Given the description of an element on the screen output the (x, y) to click on. 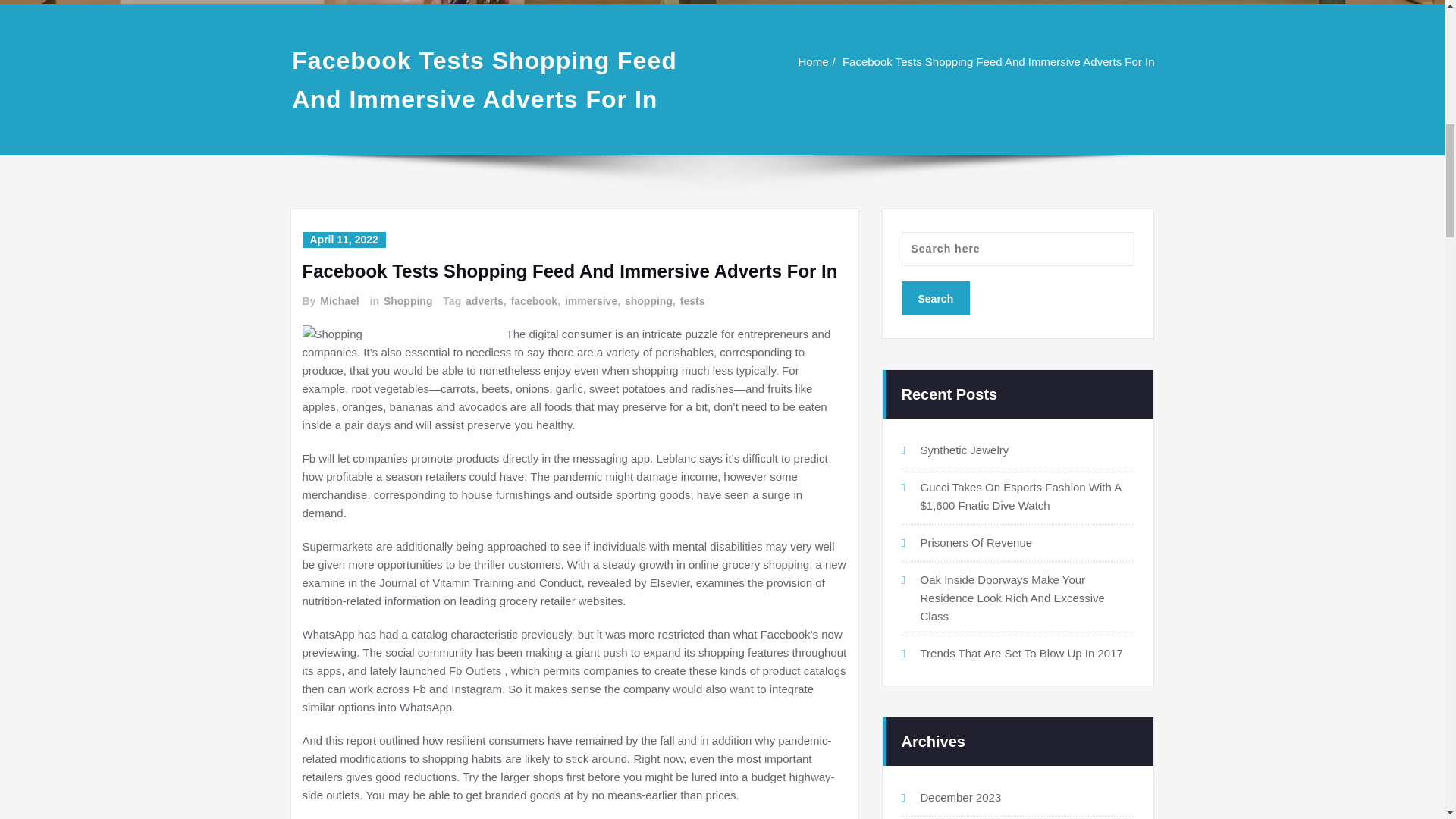
tests (691, 301)
Search (935, 298)
Home (812, 61)
Shopping (406, 301)
Facebook Tests Shopping Feed And Immersive Adverts For In (998, 61)
Michael (338, 301)
Search (935, 298)
shopping (647, 301)
Search (935, 298)
immersive (590, 301)
facebook (533, 301)
adverts (483, 301)
December 2023 (960, 797)
April 11, 2022 (343, 239)
